Given the description of an element on the screen output the (x, y) to click on. 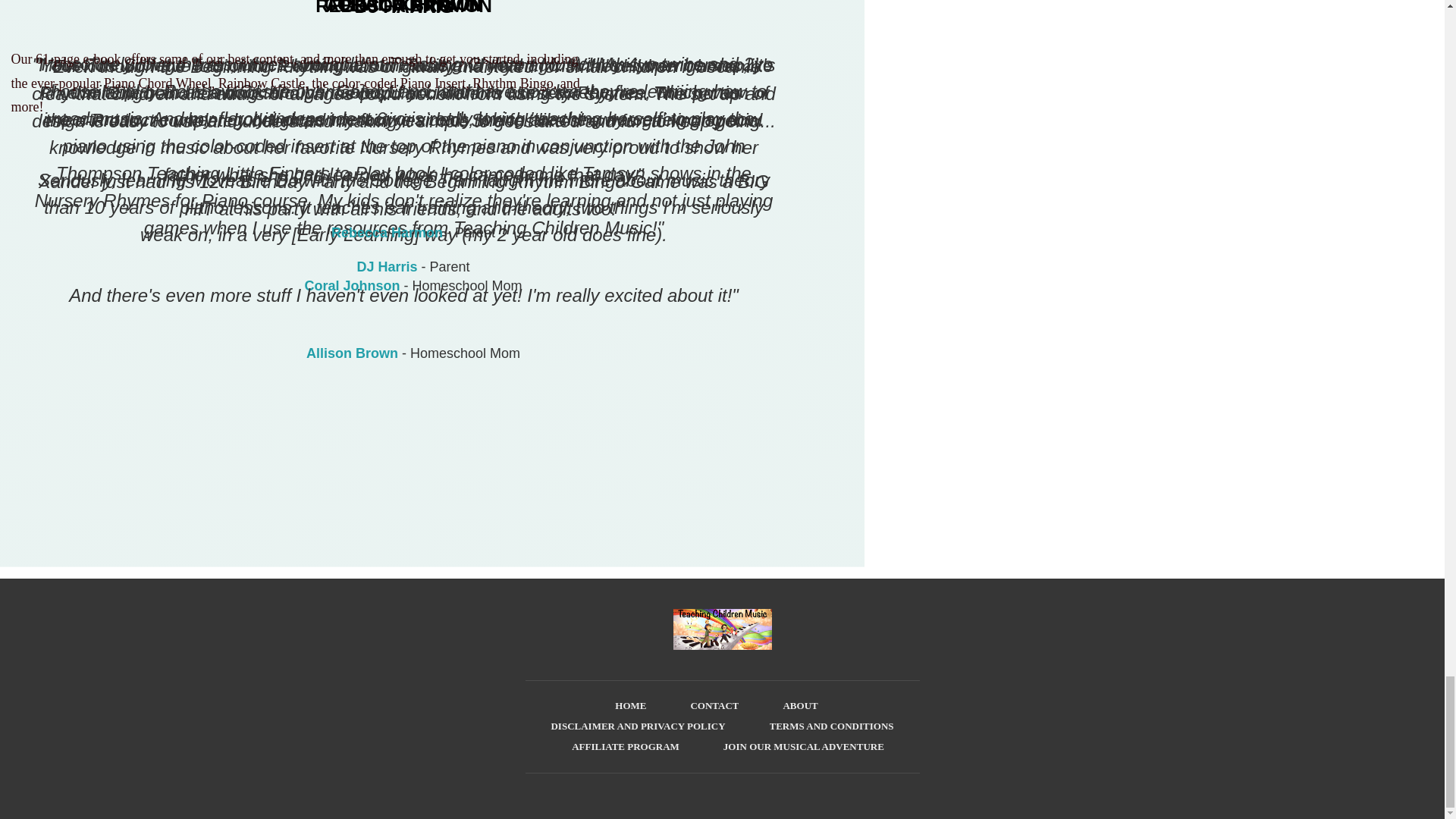
DISCLAIMER AND PRIVACY POLICY (637, 726)
ABOUT (799, 705)
JOIN OUR MUSICAL ADVENTURE (803, 746)
AFFILIATE PROGRAM (625, 746)
TERMS AND CONDITIONS (831, 726)
HOME (630, 705)
CONTACT (714, 705)
